Given the description of an element on the screen output the (x, y) to click on. 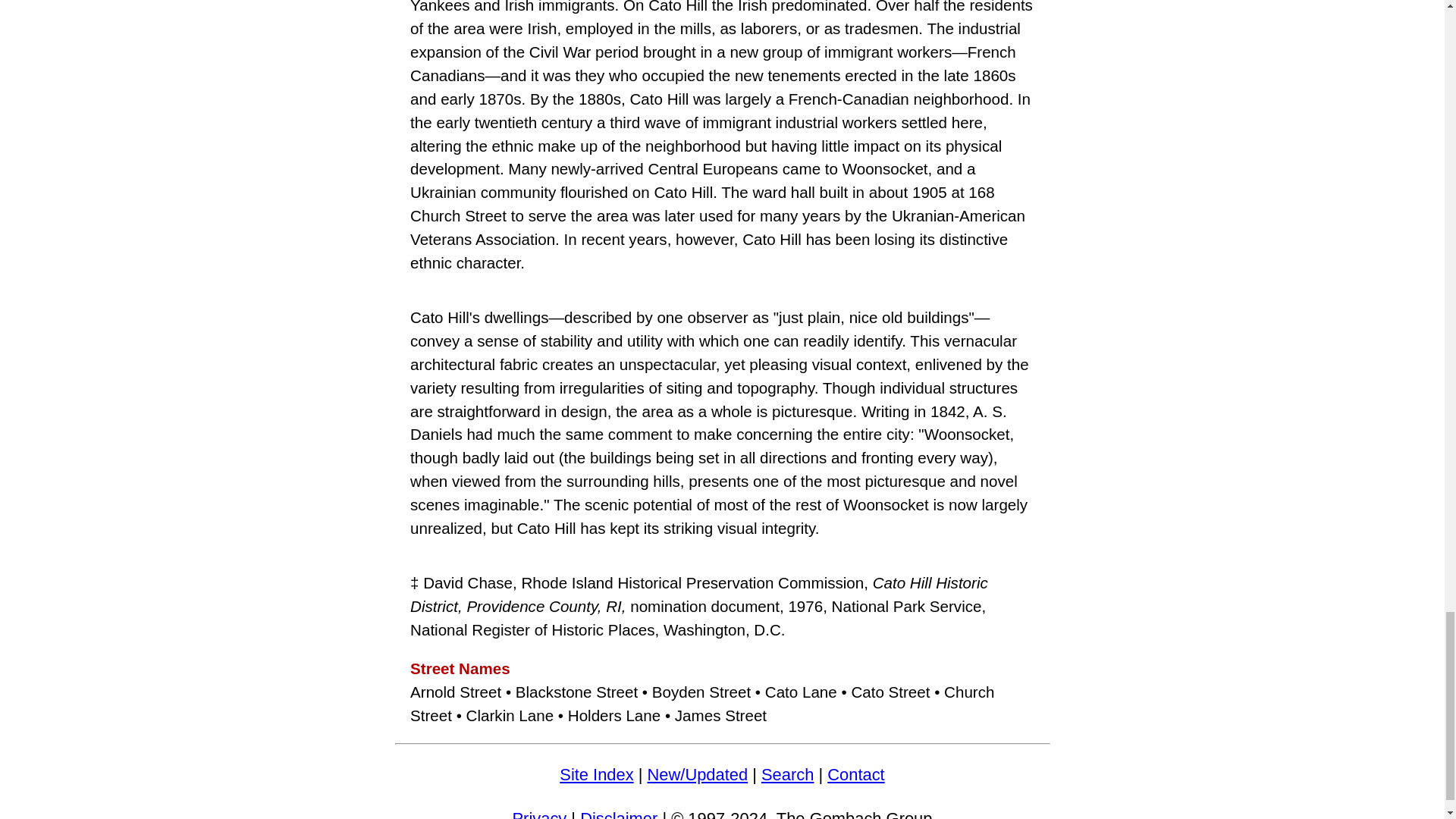
Site Index (596, 773)
